Given the description of an element on the screen output the (x, y) to click on. 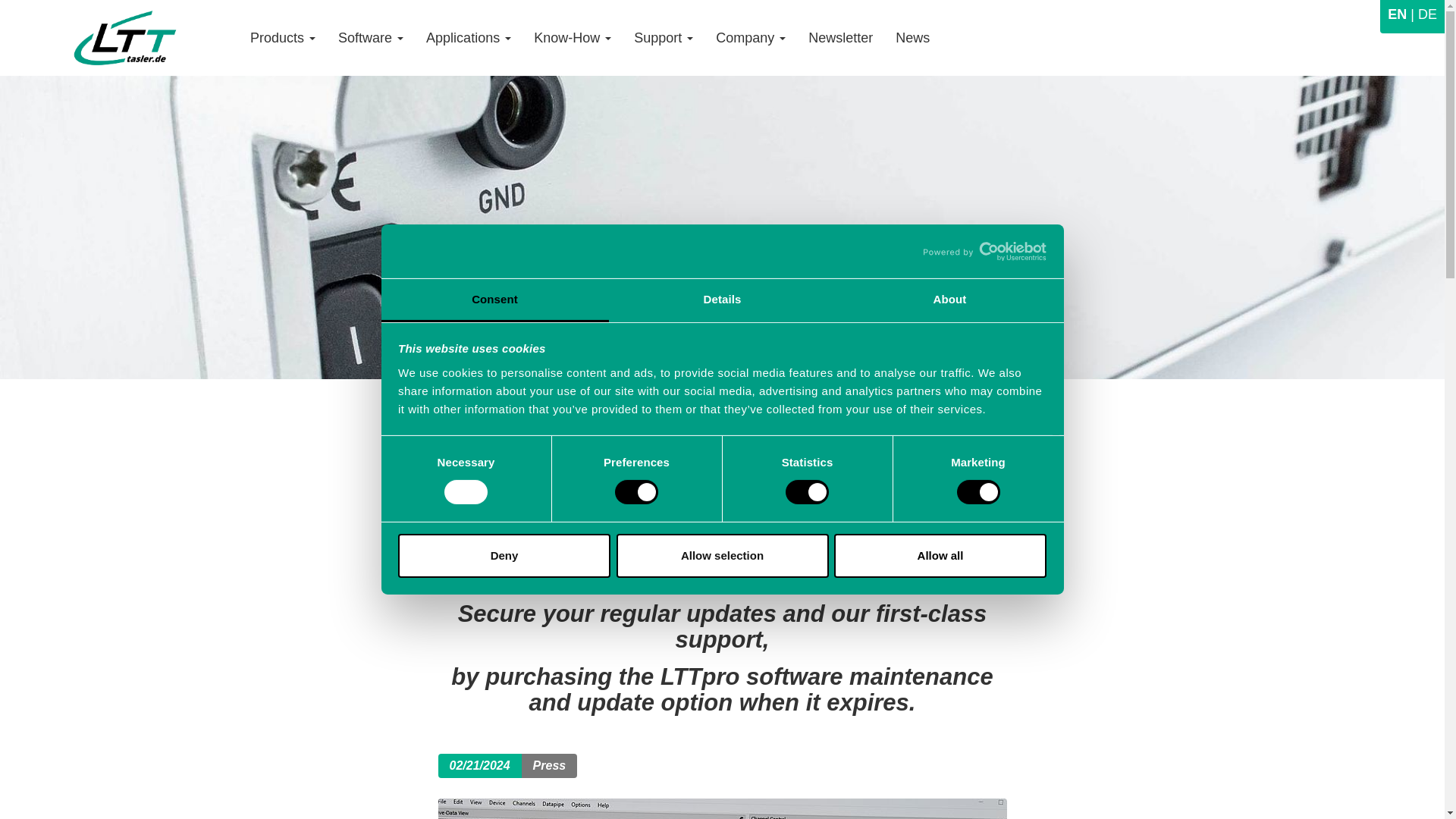
Consent (494, 300)
DE (1421, 14)
Deny (503, 555)
About (948, 300)
Details (721, 300)
Allow selection (721, 555)
